Given the description of an element on the screen output the (x, y) to click on. 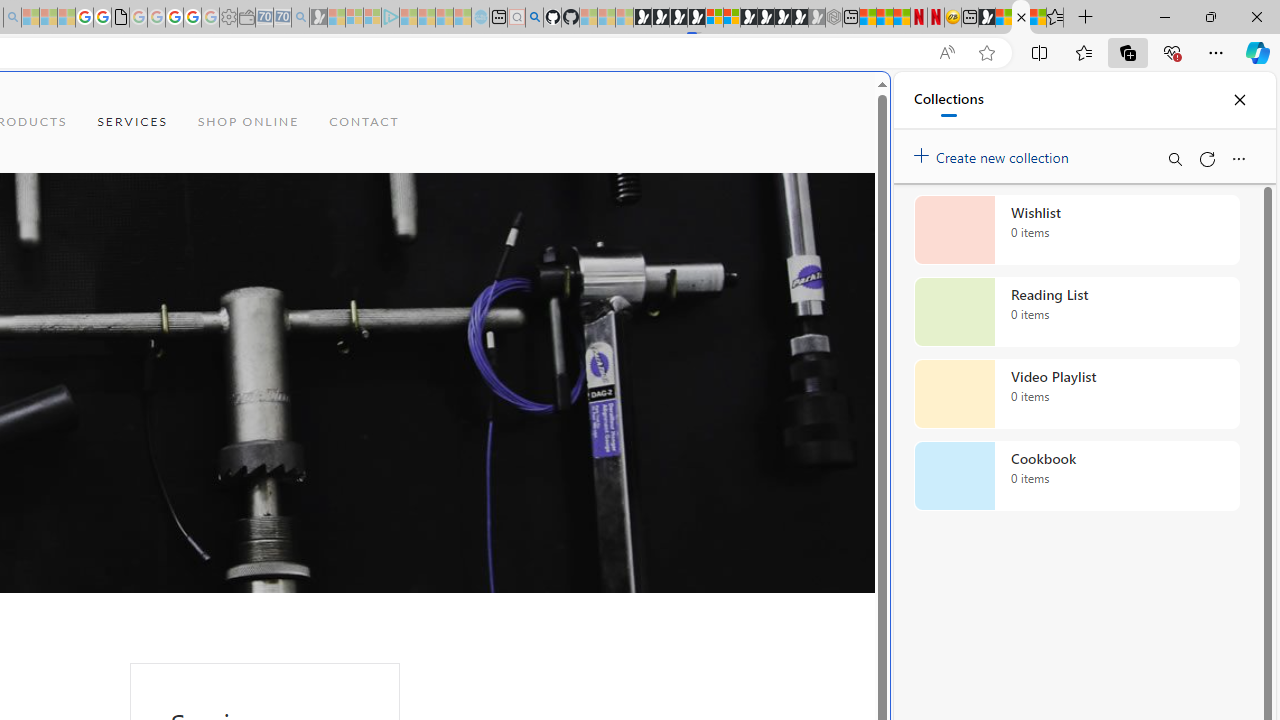
Video Playlist collection, 0 items (1076, 394)
Close split screen (844, 102)
Frequently visited (418, 265)
More options menu (1238, 158)
Sign in to your account (714, 17)
